Given the description of an element on the screen output the (x, y) to click on. 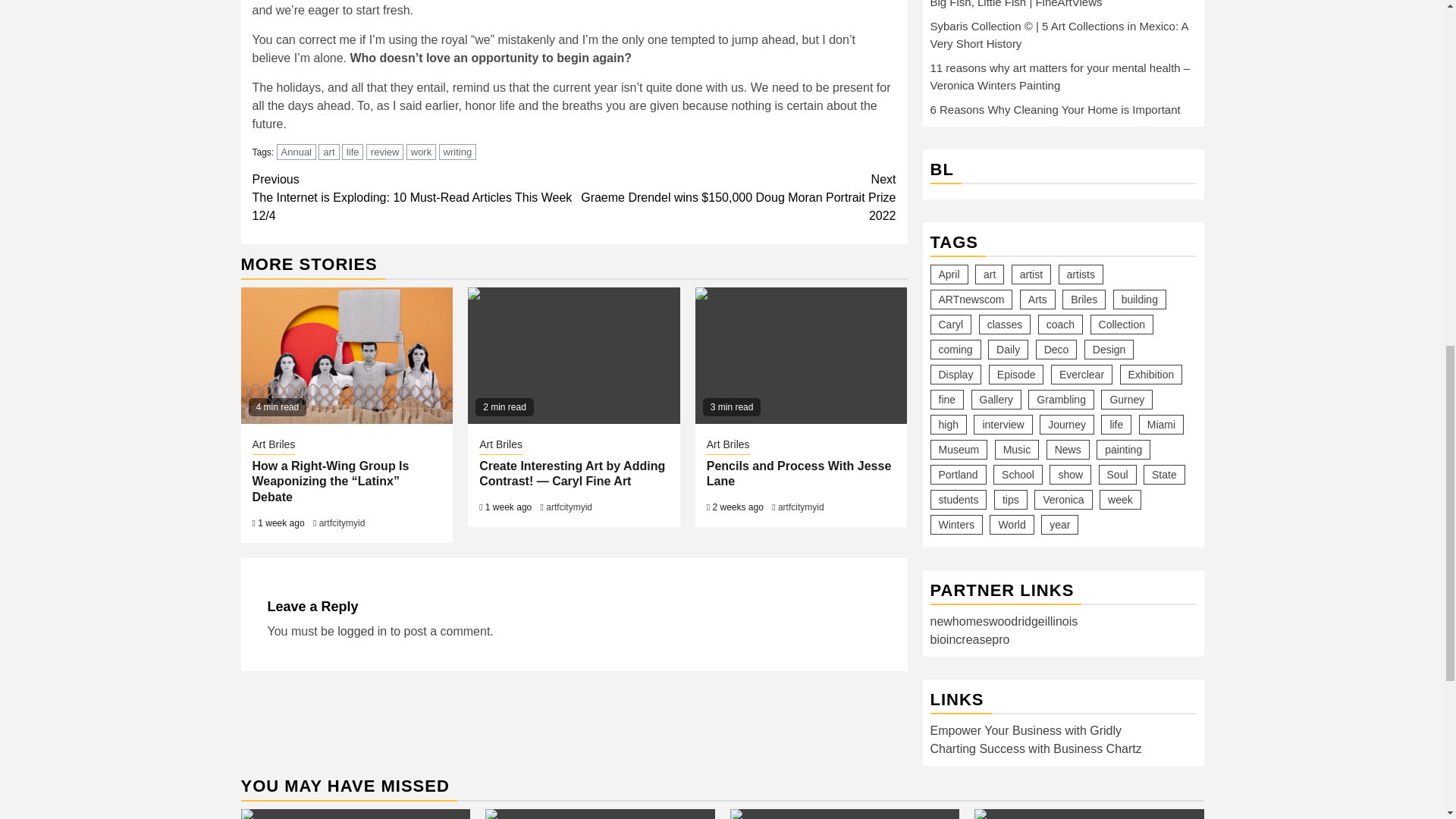
writing (458, 151)
Annual (295, 151)
Art Briles (727, 445)
Pencils and Process With Jesse Lane (801, 355)
life (353, 151)
artfcitymyid (569, 507)
art (328, 151)
review (385, 151)
Art Briles (273, 445)
Art Briles (500, 445)
artfcitymyid (341, 522)
work (420, 151)
